Given the description of an element on the screen output the (x, y) to click on. 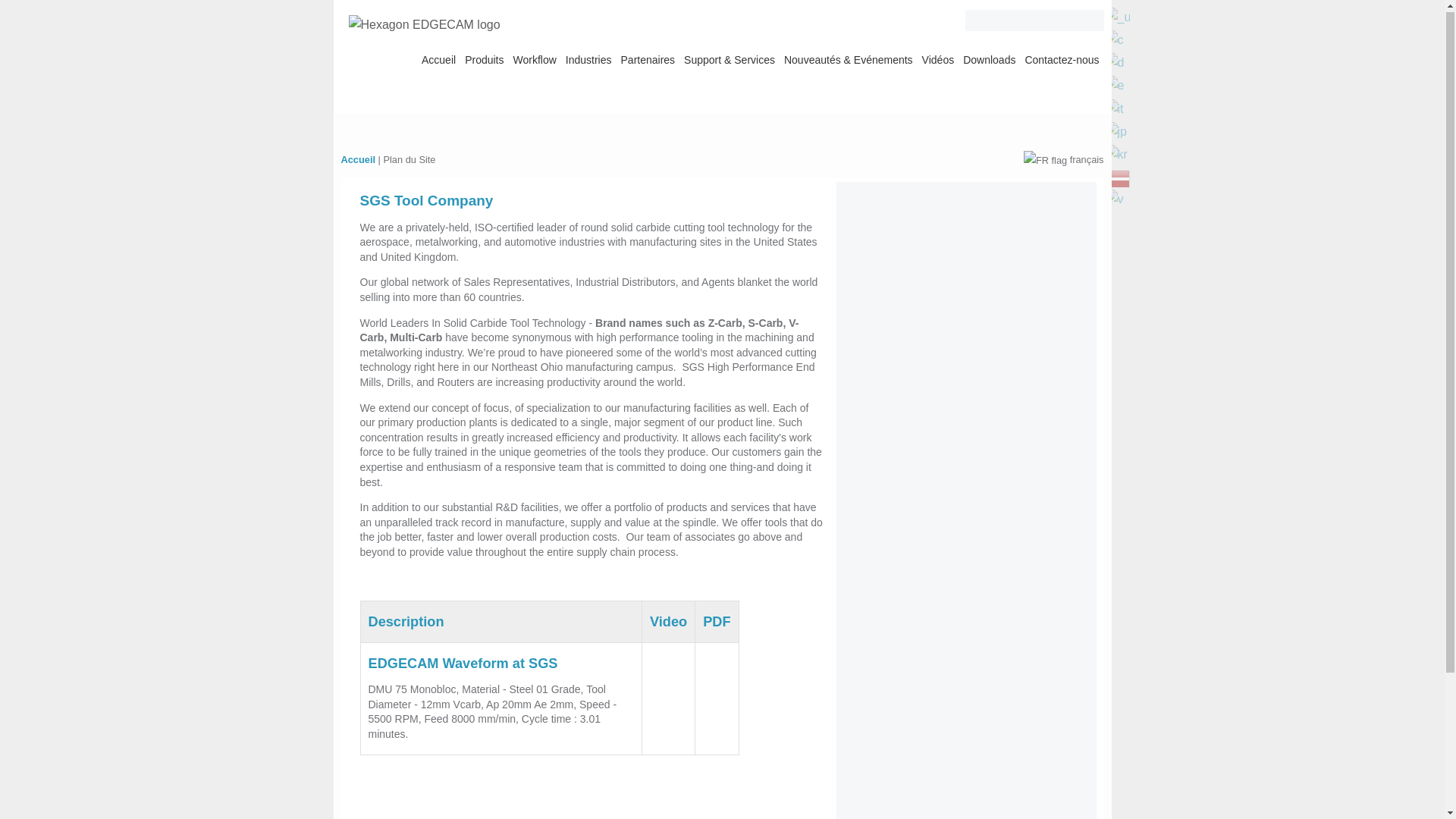
Downloads (988, 58)
Contactez-nous (1061, 58)
Industries (1117, 84)
